Given the description of an element on the screen output the (x, y) to click on. 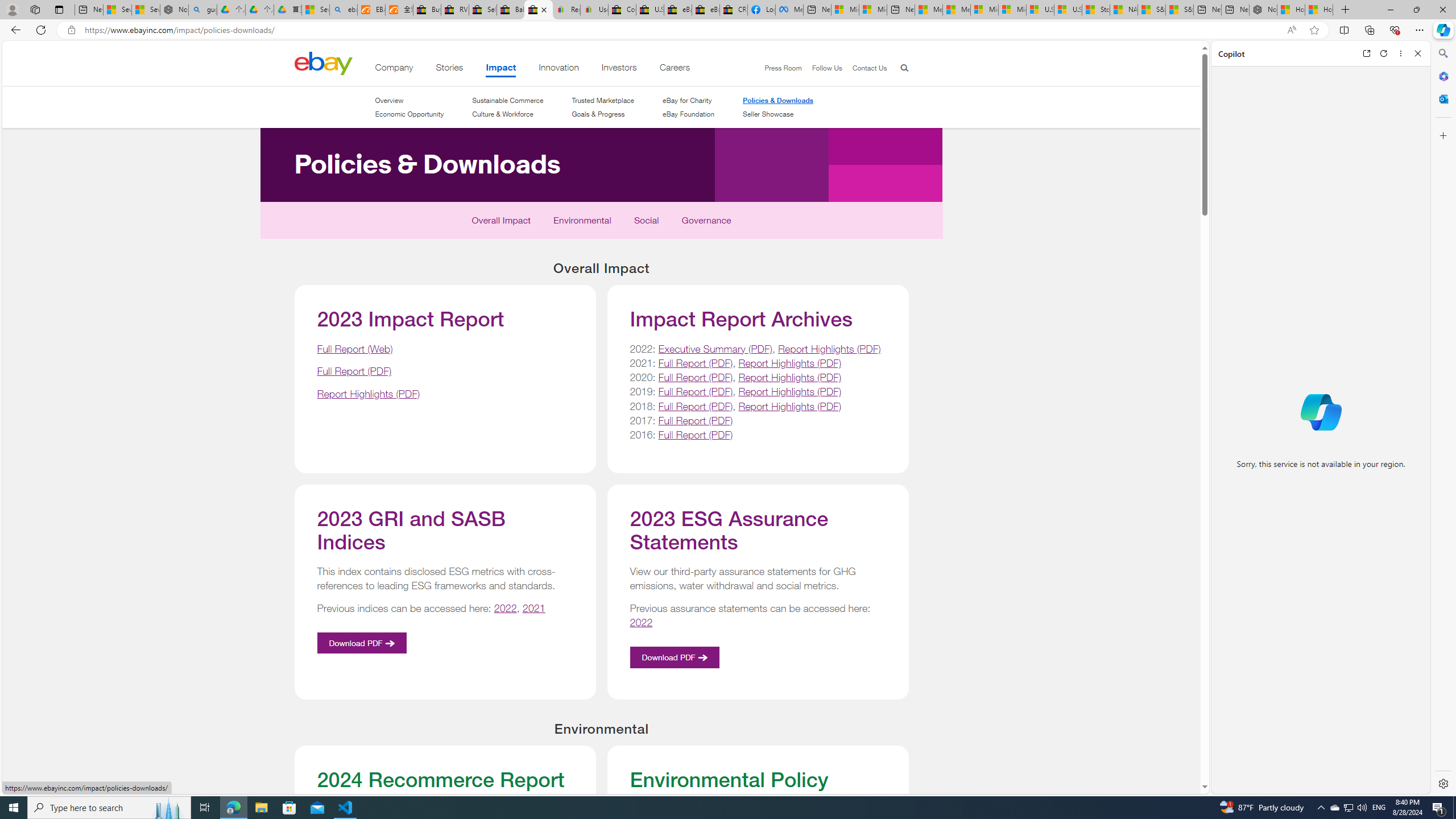
Policies & Downloads - eBay Inc. (538, 9)
Overview (409, 100)
Seller Showcase (767, 113)
Trusted Marketplace (603, 99)
Sustainable Commerce (507, 99)
Press Room (778, 68)
Consumer Health Data Privacy Policy - eBay Inc. (621, 9)
Economic Opportunity (409, 113)
